Given the description of an element on the screen output the (x, y) to click on. 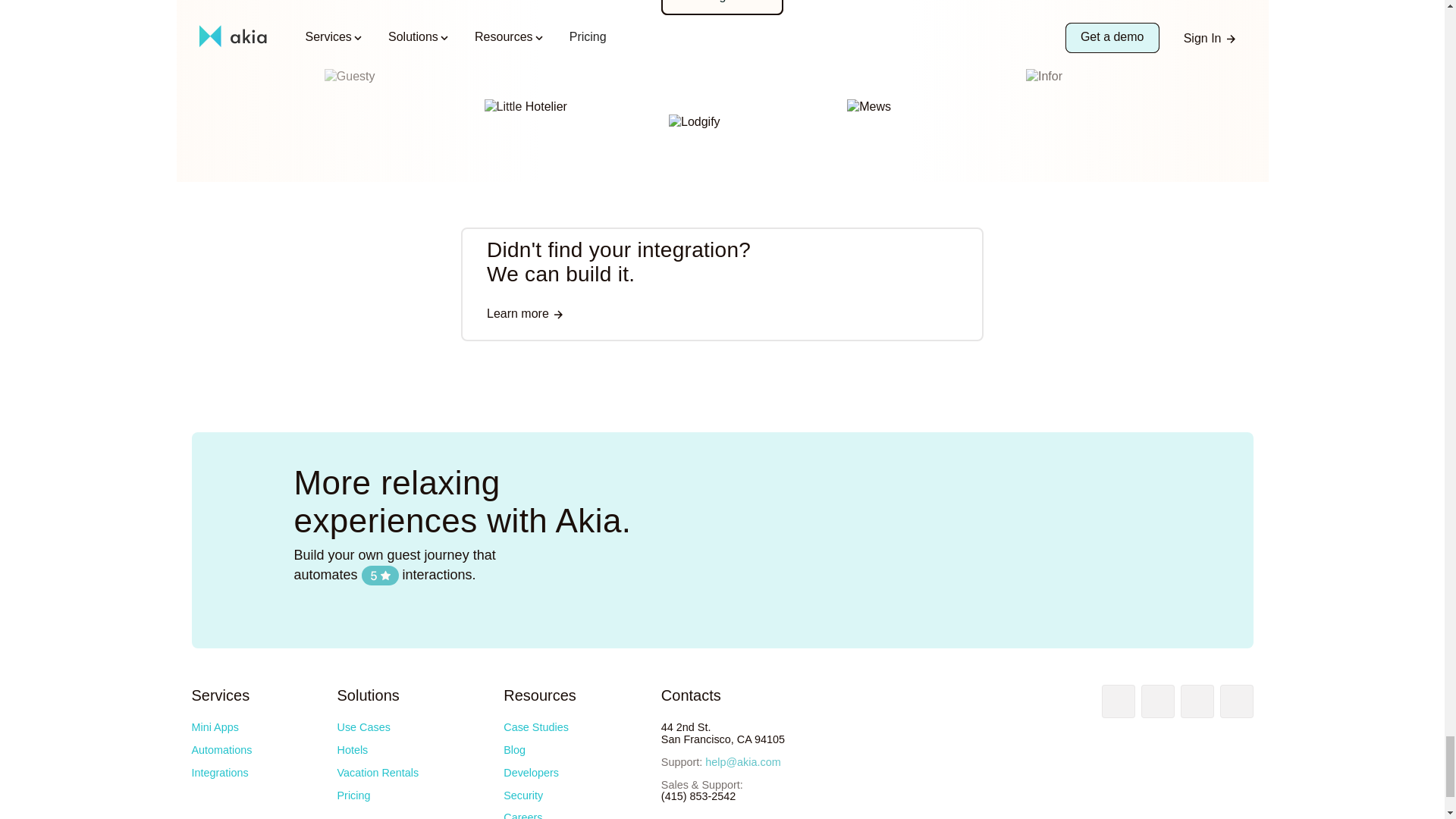
Use Cases (363, 727)
Automations (220, 749)
Learn more (524, 314)
Integrations (218, 772)
Mini Apps (214, 727)
All Integrations (722, 7)
